Given the description of an element on the screen output the (x, y) to click on. 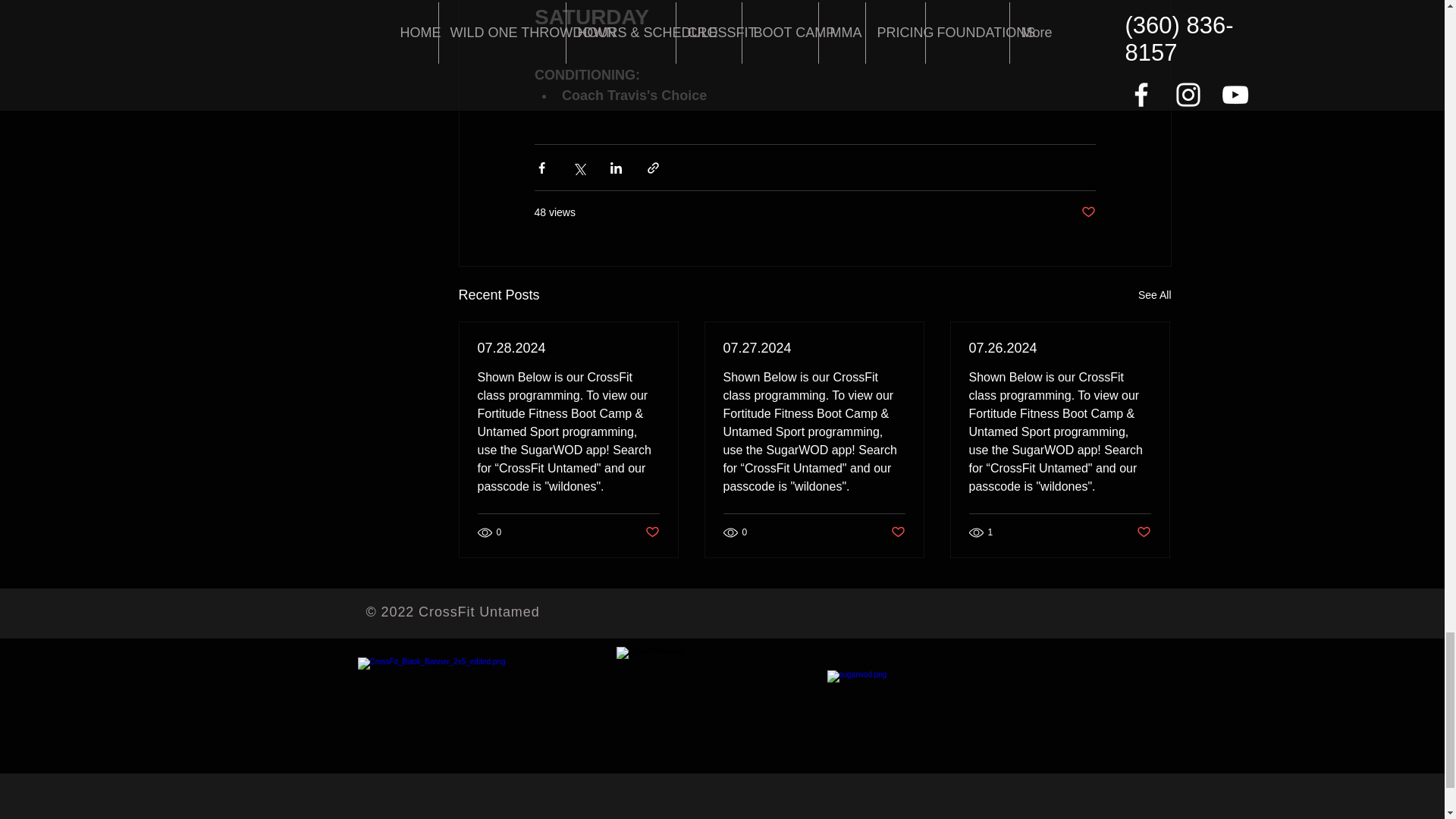
07.28.2024 (568, 348)
See All (1155, 295)
Post not marked as liked (896, 532)
Post not marked as liked (1142, 532)
07.26.2024 (1060, 348)
07.27.2024 (814, 348)
Post not marked as liked (1088, 212)
Post not marked as liked (652, 532)
